Given the description of an element on the screen output the (x, y) to click on. 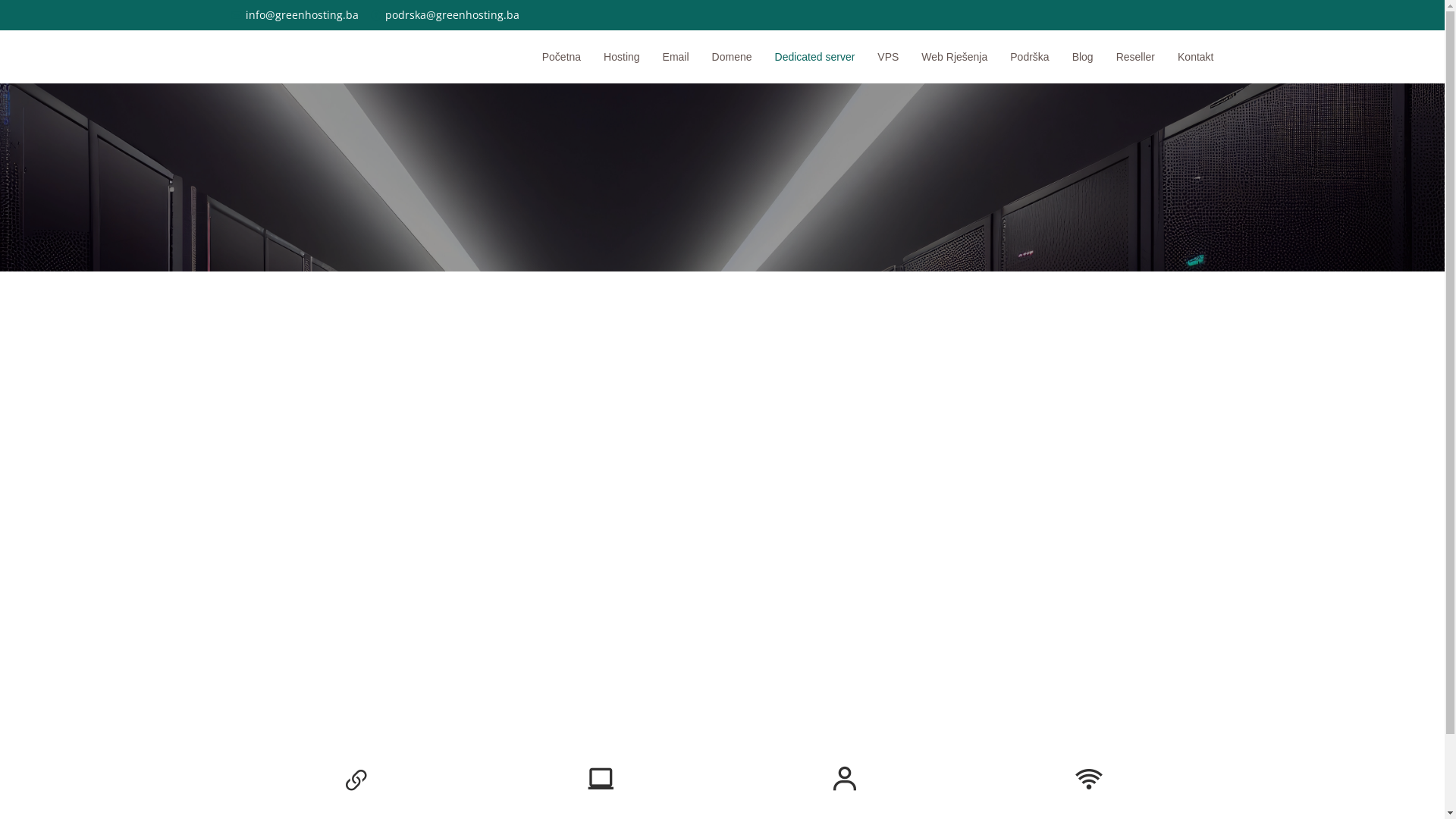
Domene Element type: text (720, 56)
Kontakt Element type: text (1183, 56)
Reseller Element type: text (1123, 56)
VPS Element type: text (876, 56)
Dedicated server Element type: text (803, 56)
Blog Element type: text (1071, 56)
Email Element type: text (664, 56)
Hosting Element type: text (609, 56)
